Given the description of an element on the screen output the (x, y) to click on. 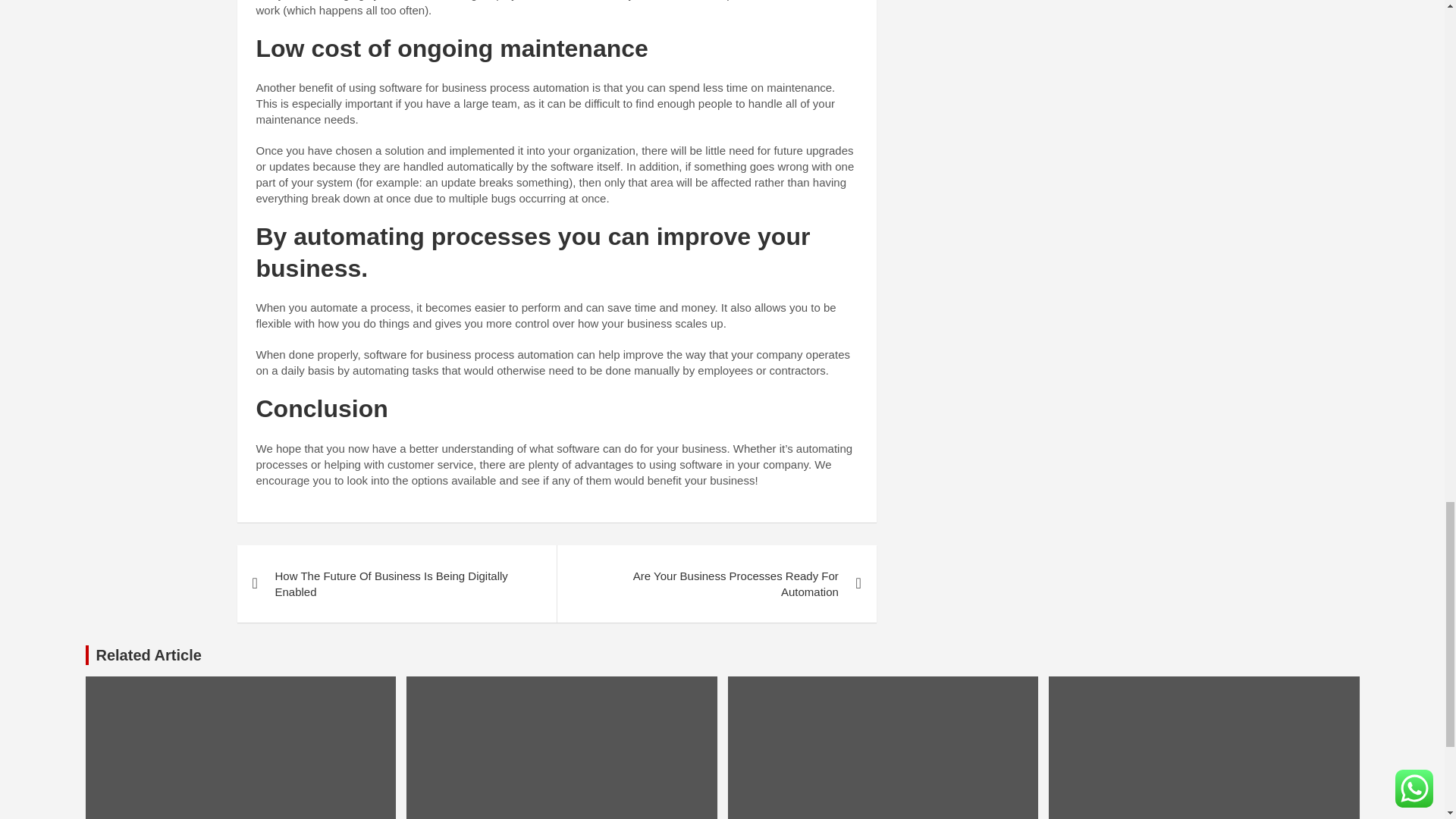
How The Future Of Business Is Being Digitally Enabled (395, 583)
Are Your Business Processes Ready For Automation (716, 583)
